Given the description of an element on the screen output the (x, y) to click on. 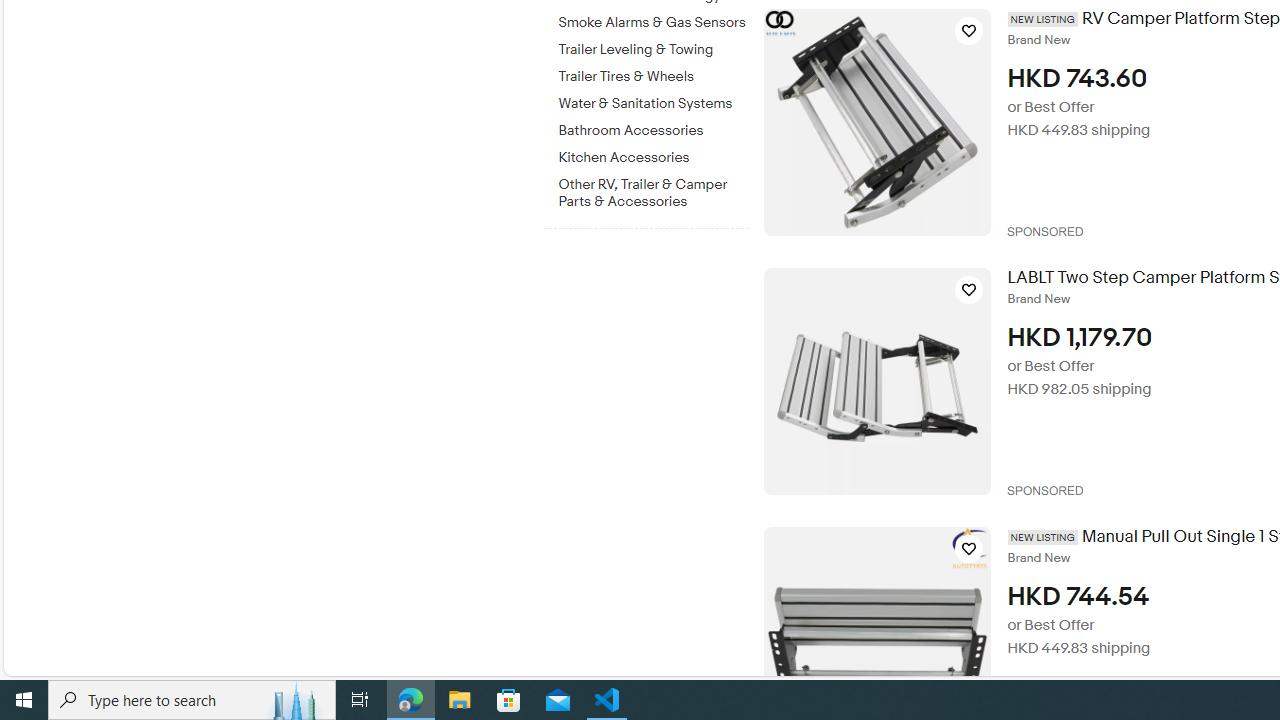
Other RV, Trailer & Camper Parts & Accessories (653, 189)
Bathroom Accessories (653, 131)
Other RV, Trailer & Camper Parts & Accessories (653, 193)
Smoke Alarms & Gas Sensors (653, 19)
Smoke Alarms & Gas Sensors (653, 23)
Trailer Leveling & Towing (653, 50)
Bathroom Accessories (653, 127)
Trailer Tires & Wheels (653, 73)
Kitchen Accessories (653, 154)
Water & Sanitation Systems (653, 104)
Trailer Leveling & Towing (653, 46)
Water & Sanitation Systems (653, 100)
